Given the description of an element on the screen output the (x, y) to click on. 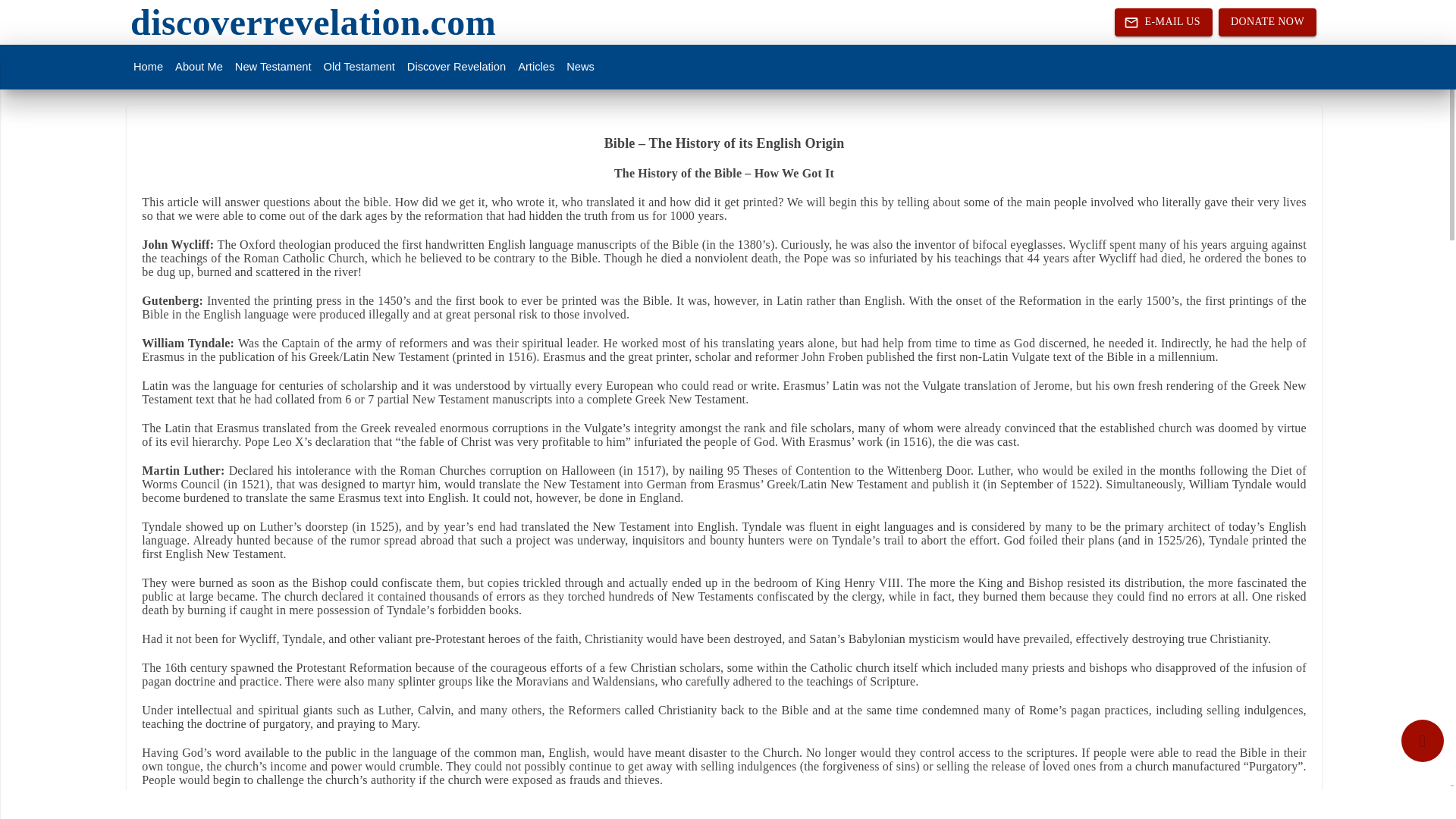
Articles (536, 67)
New Testament (272, 67)
DONATE NOW (1267, 22)
About Me (198, 67)
Home (148, 67)
Discover Revelation (456, 67)
Old Testament (359, 67)
News (579, 67)
E-MAIL US (1163, 22)
